Given the description of an element on the screen output the (x, y) to click on. 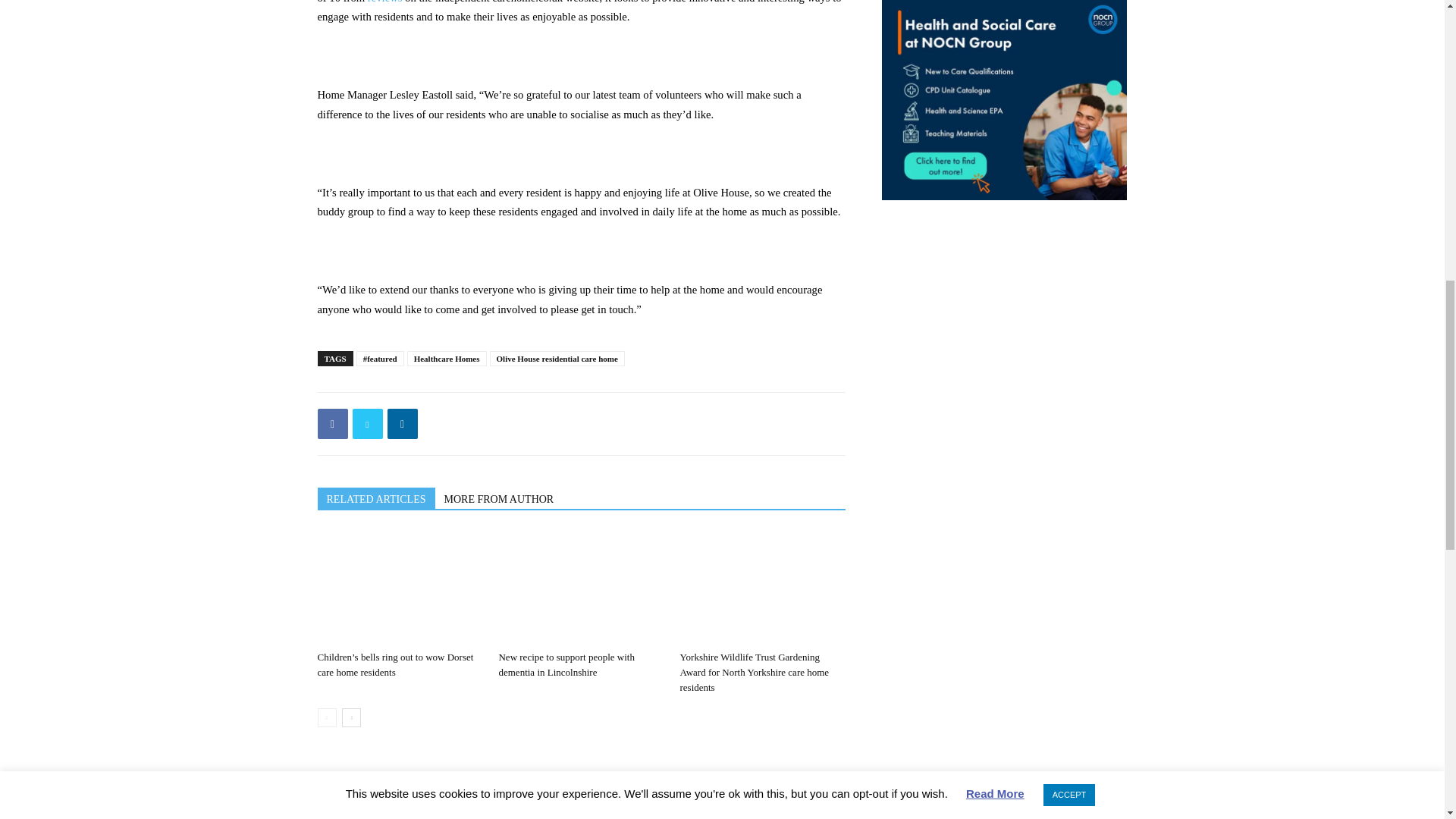
Olive House residential care home (556, 358)
Facebook (332, 423)
Linkedin (401, 423)
Twitter (366, 423)
reviews (385, 2)
RELATED ARTICLES (375, 497)
Healthcare Homes (446, 358)
